Given the description of an element on the screen output the (x, y) to click on. 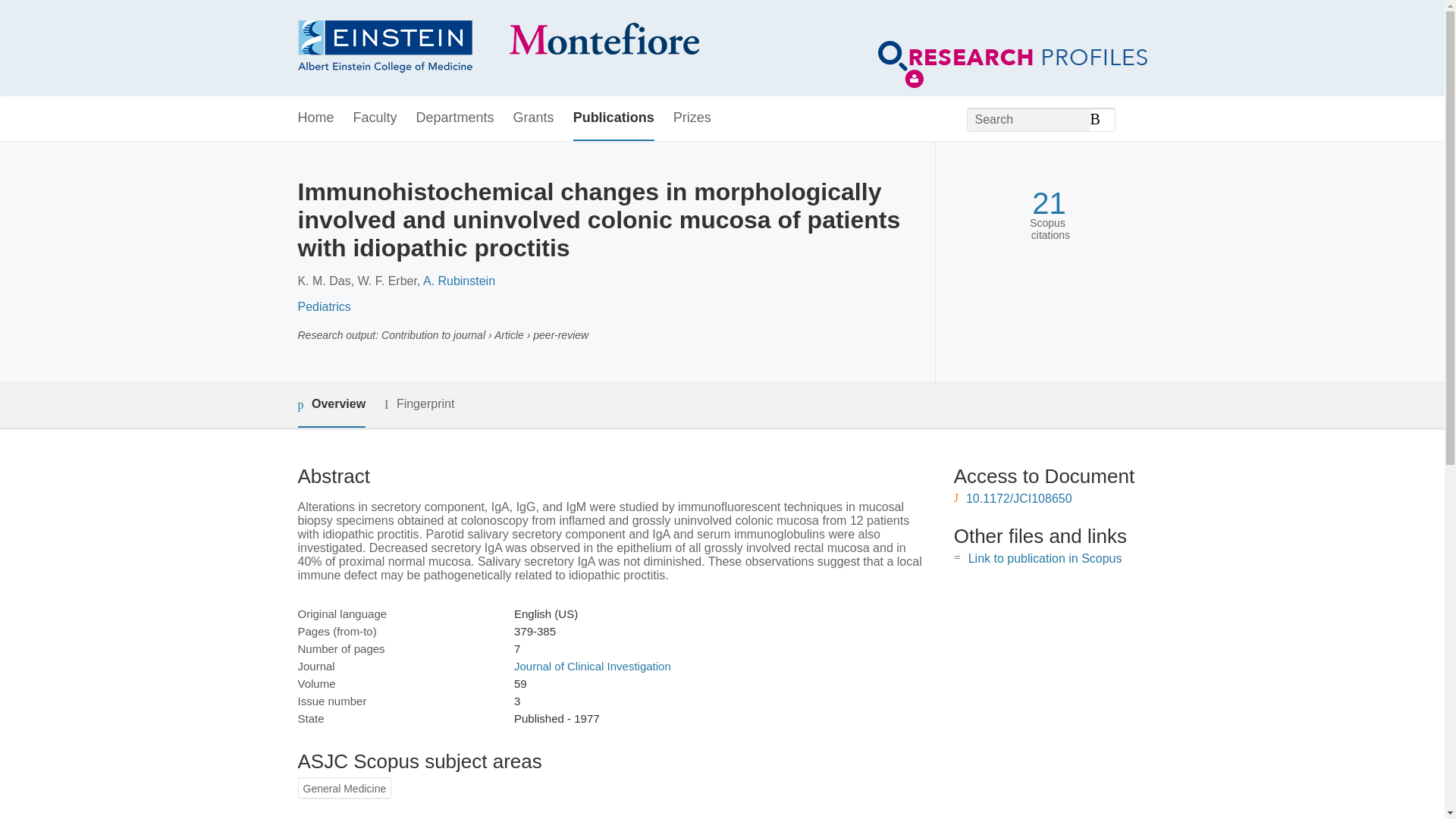
21 (1048, 203)
Departments (455, 118)
Publications (613, 118)
Faculty (375, 118)
A. Rubinstein (459, 280)
Pediatrics (323, 306)
Albert Einstein College of Medicine Home (497, 48)
Journal of Clinical Investigation (592, 666)
Fingerprint (419, 404)
Link to publication in Scopus (1045, 558)
Grants (533, 118)
Overview (331, 405)
